Given the description of an element on the screen output the (x, y) to click on. 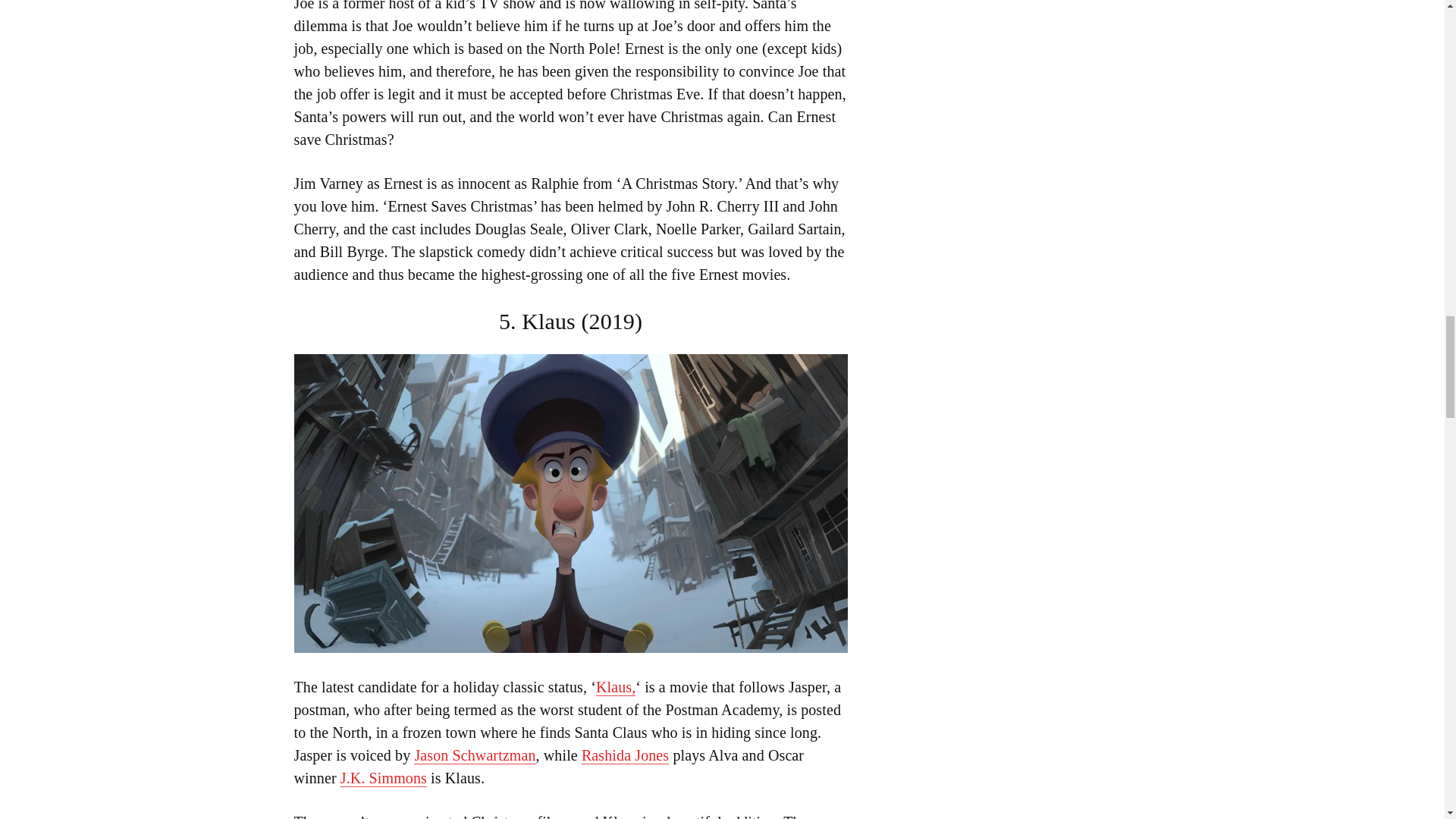
J.K. Simmons (383, 778)
Klaus, (614, 687)
Rashida Jones (624, 755)
Jason Schwartzman (474, 755)
